Given the description of an element on the screen output the (x, y) to click on. 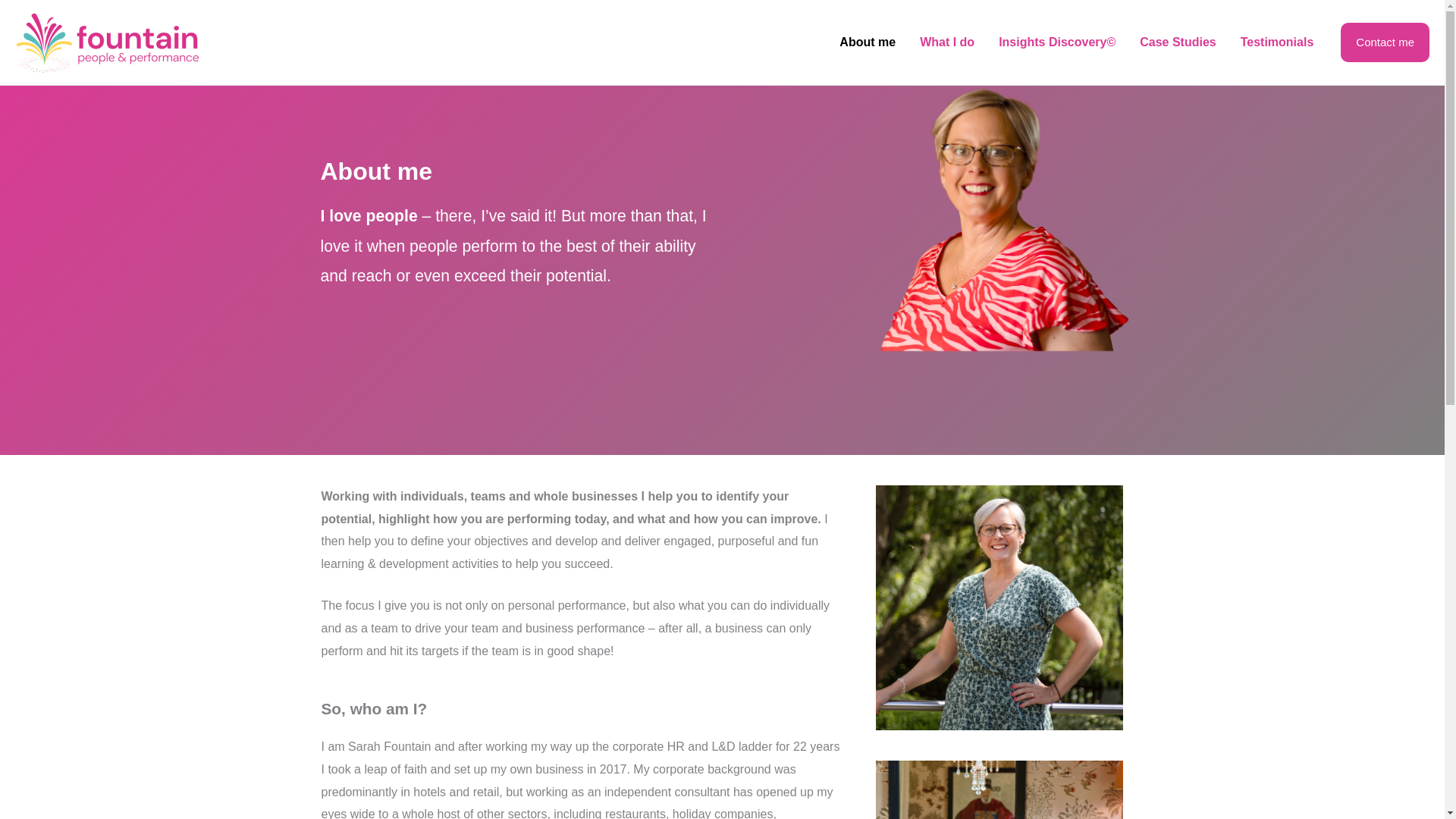
Testimonials (1277, 42)
What I do (947, 42)
About me (867, 42)
PHOTO-2023-08-25-08-19-01 (999, 789)
Contact me (1384, 42)
sarah-edit12 (999, 607)
Case Studies (1176, 42)
